Given the description of an element on the screen output the (x, y) to click on. 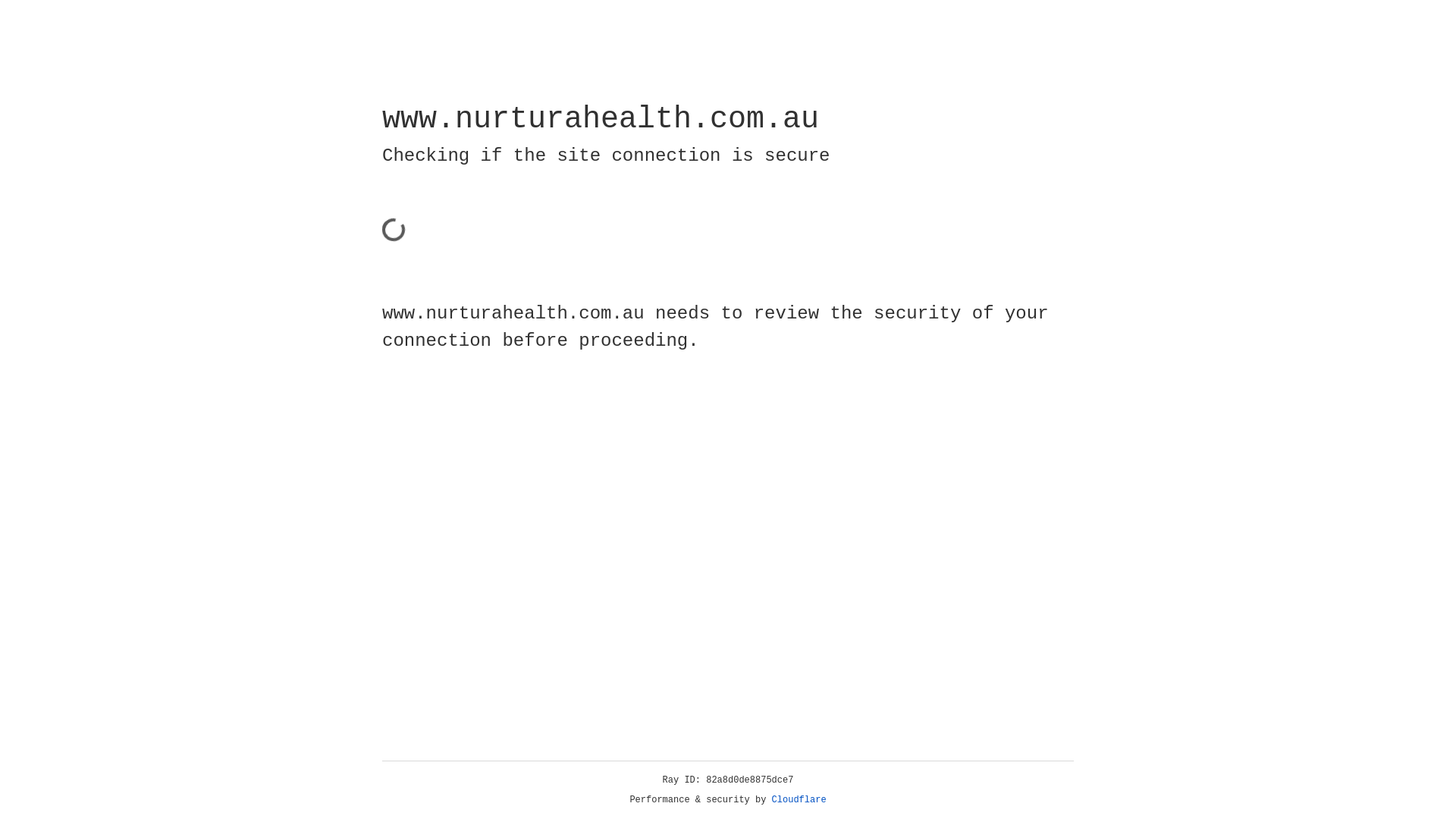
Cloudflare Element type: text (798, 799)
